Given the description of an element on the screen output the (x, y) to click on. 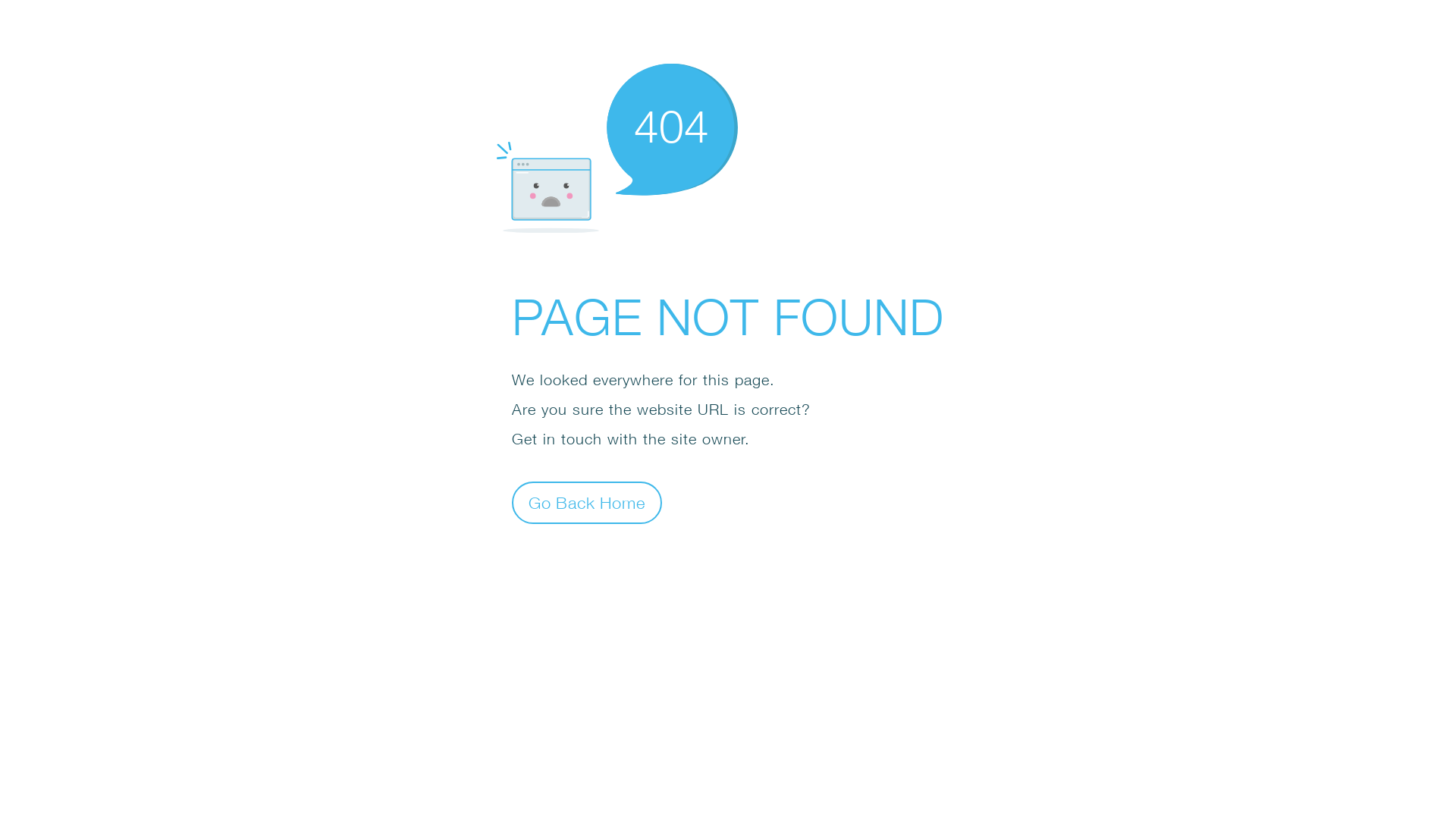
Go Back Home Element type: text (586, 502)
